Given the description of an element on the screen output the (x, y) to click on. 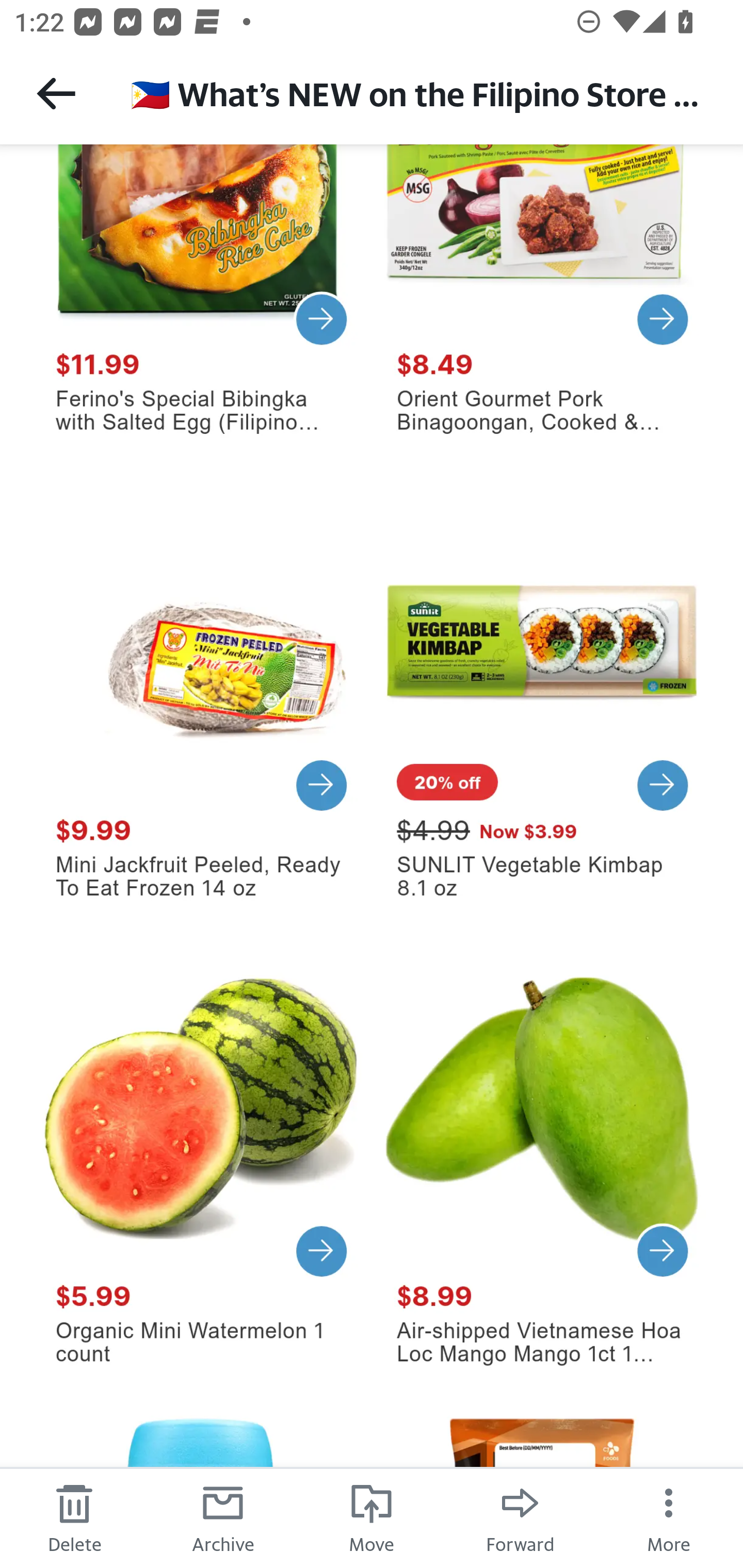
Back (55, 92)
Delete (74, 1517)
Archive (222, 1517)
Move (371, 1517)
Forward (519, 1517)
More (668, 1517)
